Given the description of an element on the screen output the (x, y) to click on. 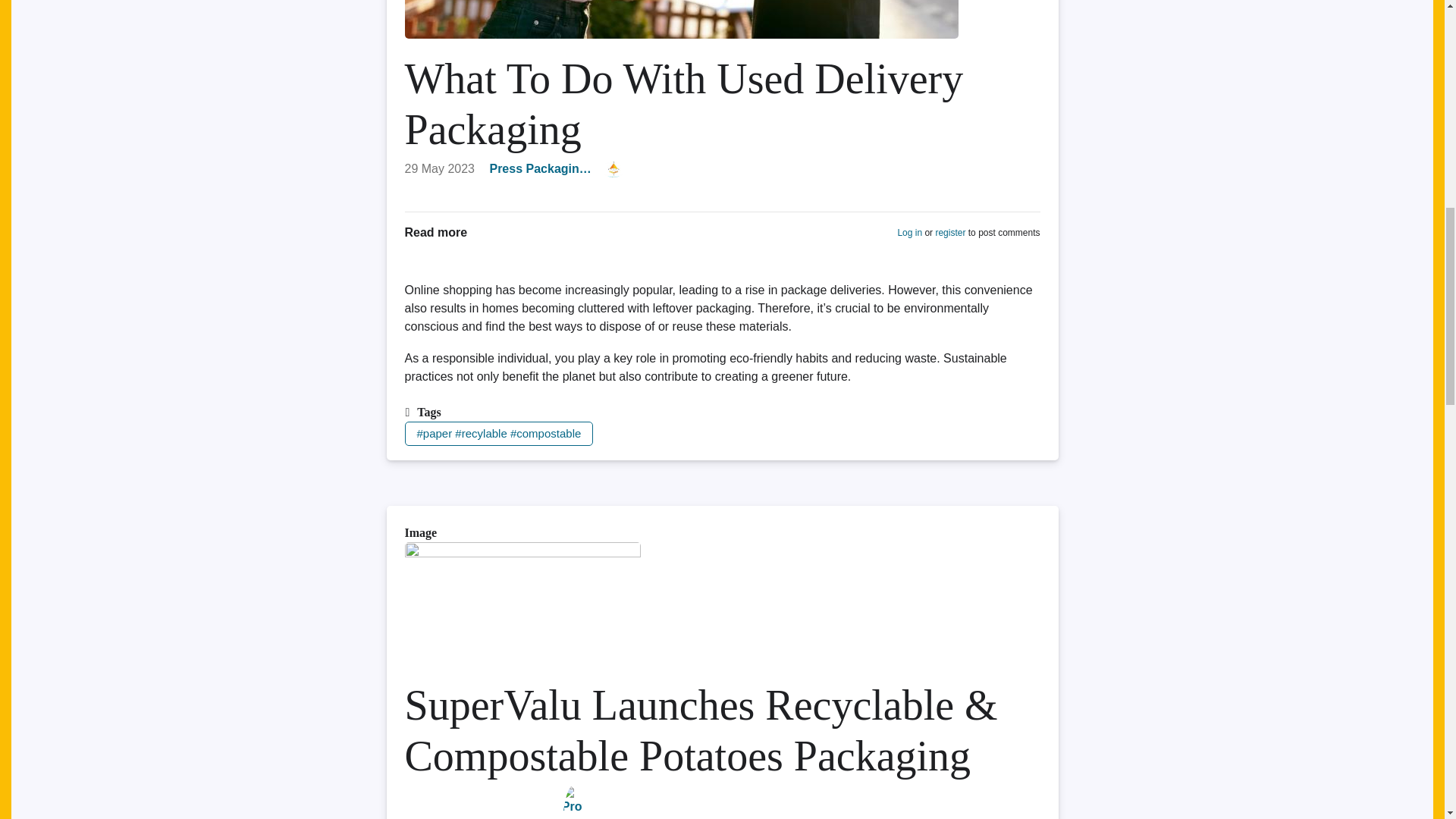
View user profile. (540, 168)
What To Do With Used Delivery Packaging  (435, 232)
